Given the description of an element on the screen output the (x, y) to click on. 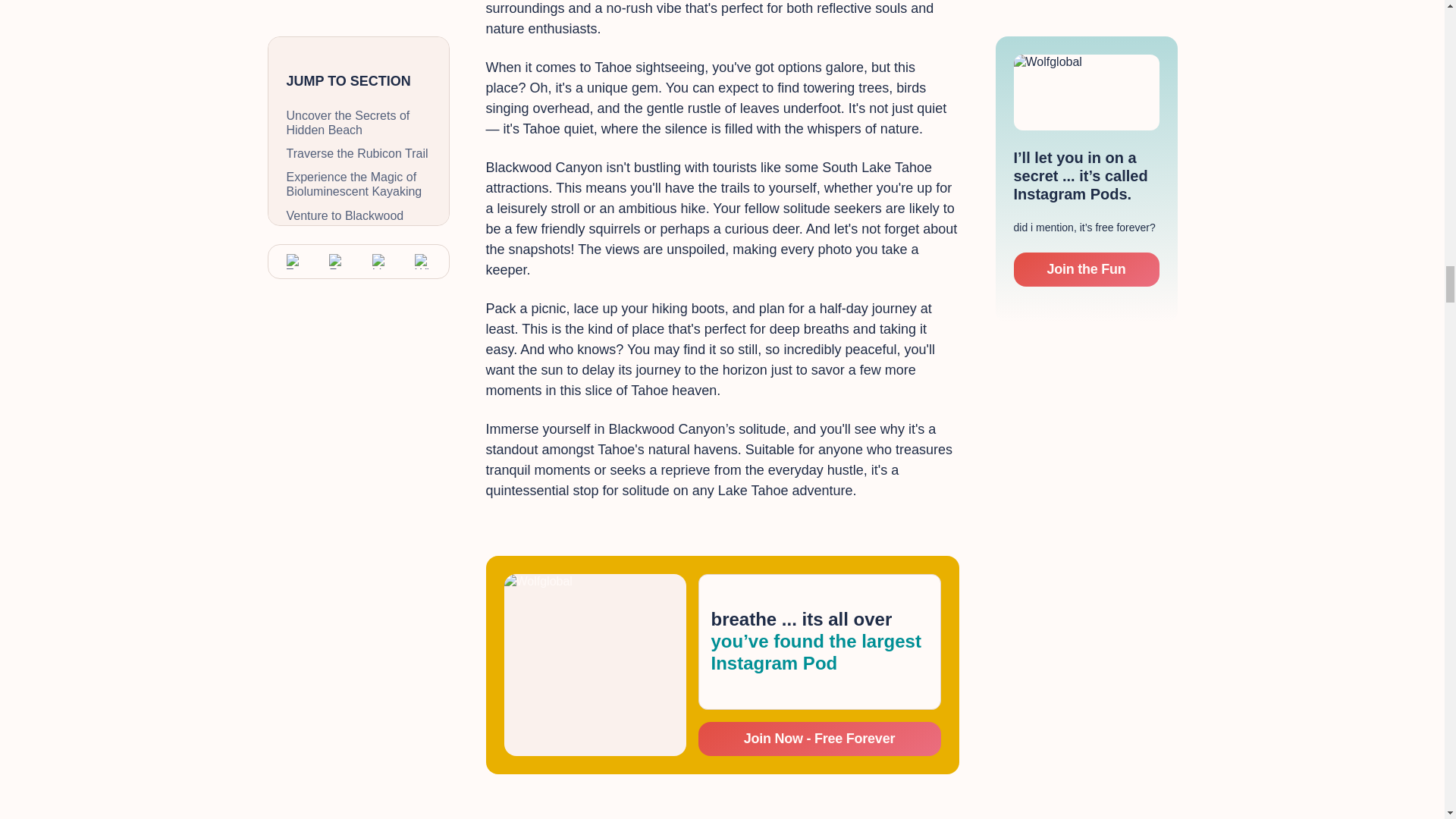
Join Now - Free Forever (818, 738)
